Given the description of an element on the screen output the (x, y) to click on. 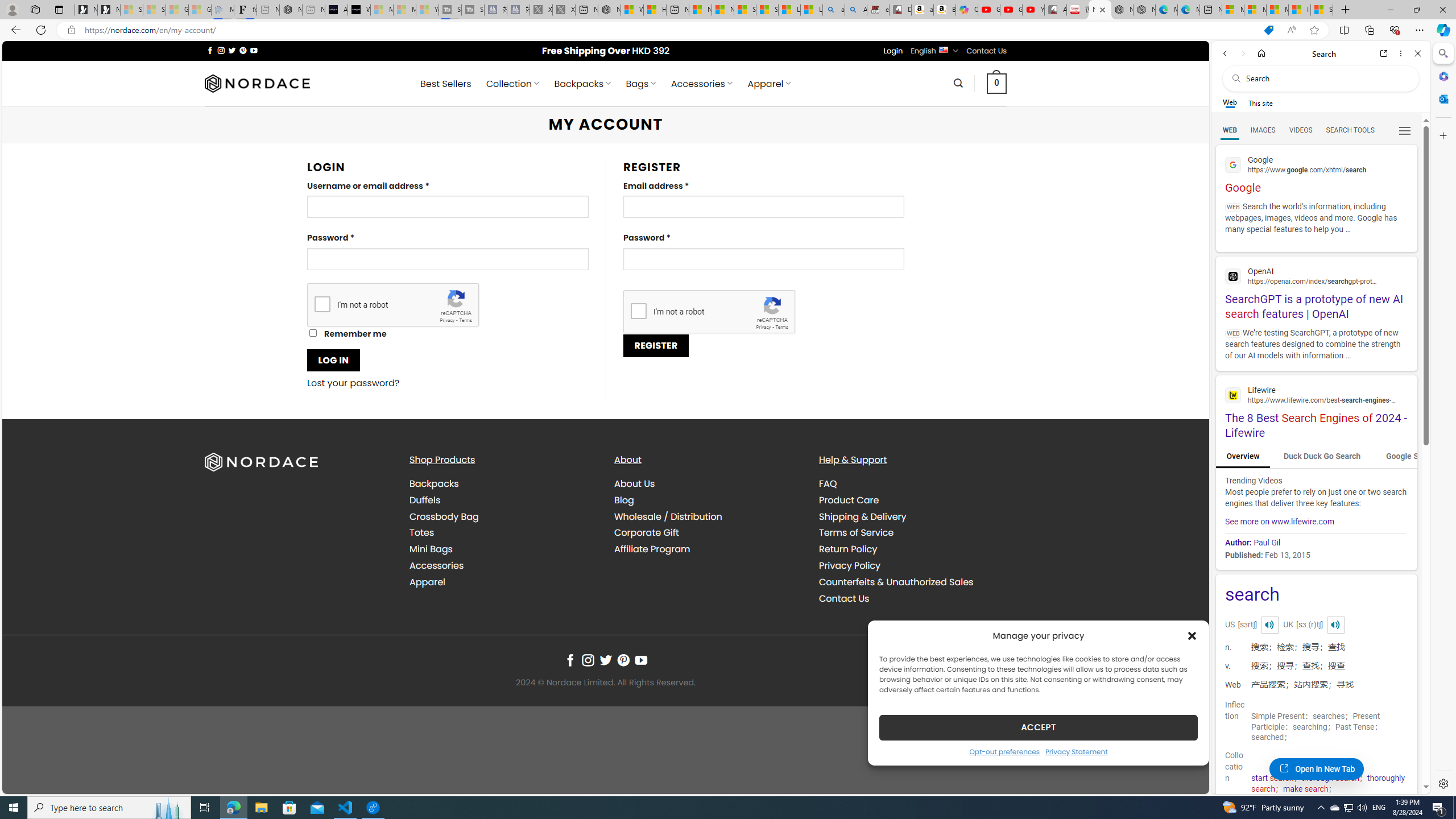
Search Filter, IMAGES (1262, 129)
Search Filter, Search Tools (1350, 129)
Remember me (312, 333)
SearchGPT is a prototype of new AI search features | OpenAI (1315, 291)
Home (1261, 53)
Search Filter, WEB (1230, 129)
Crossbody Bag (502, 516)
This site has coupons! Shopping in Microsoft Edge (1268, 29)
